Given the description of an element on the screen output the (x, y) to click on. 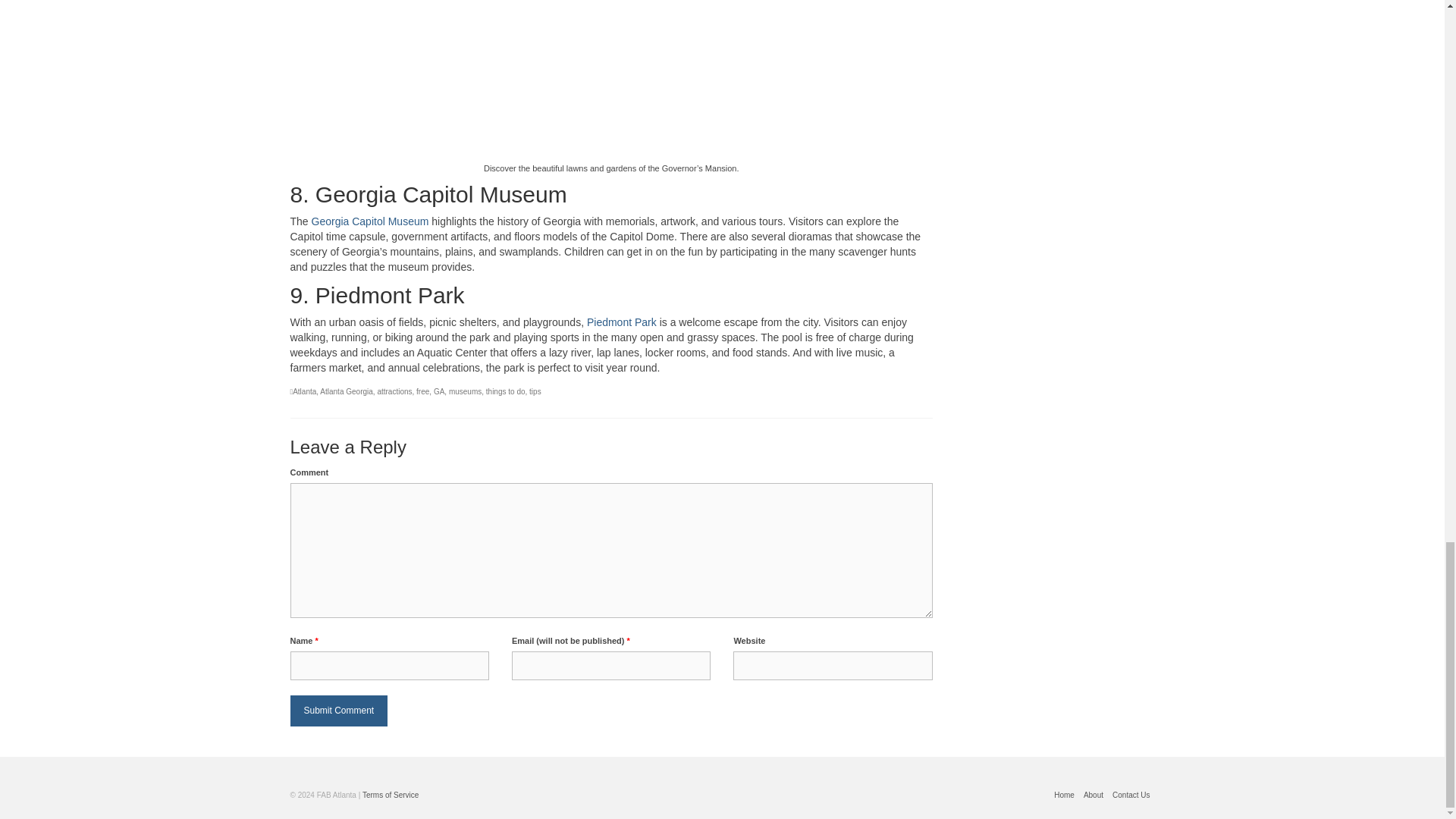
Piedmont Park (621, 322)
Submit Comment (338, 710)
tips (535, 391)
things to do (505, 391)
free (422, 391)
Atlanta Georgia (346, 391)
Submit Comment (338, 710)
Home (1063, 795)
GA (438, 391)
Georgia Capitol Museum (370, 221)
